Given the description of an element on the screen output the (x, y) to click on. 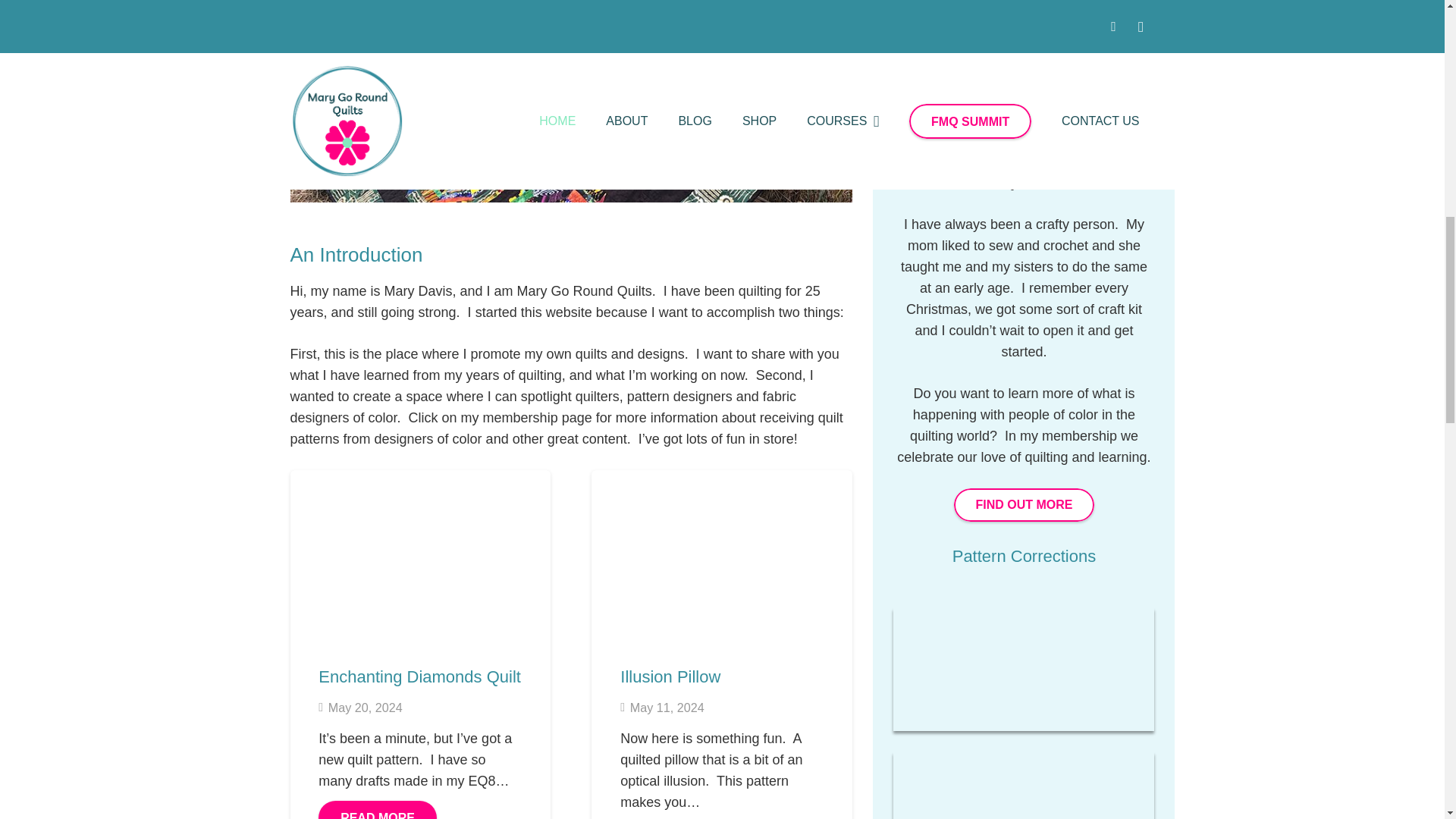
Back to top (1413, 26)
Enchanting Diamonds Quilt (419, 676)
Membership (1023, 505)
Follow Me on Facebook (1023, 668)
Illusion Pillow (670, 676)
Follow Me on Instagram (1023, 785)
Pattern Corrections (1024, 556)
FIND OUT MORE (1023, 505)
READ MORE (376, 809)
